Given the description of an element on the screen output the (x, y) to click on. 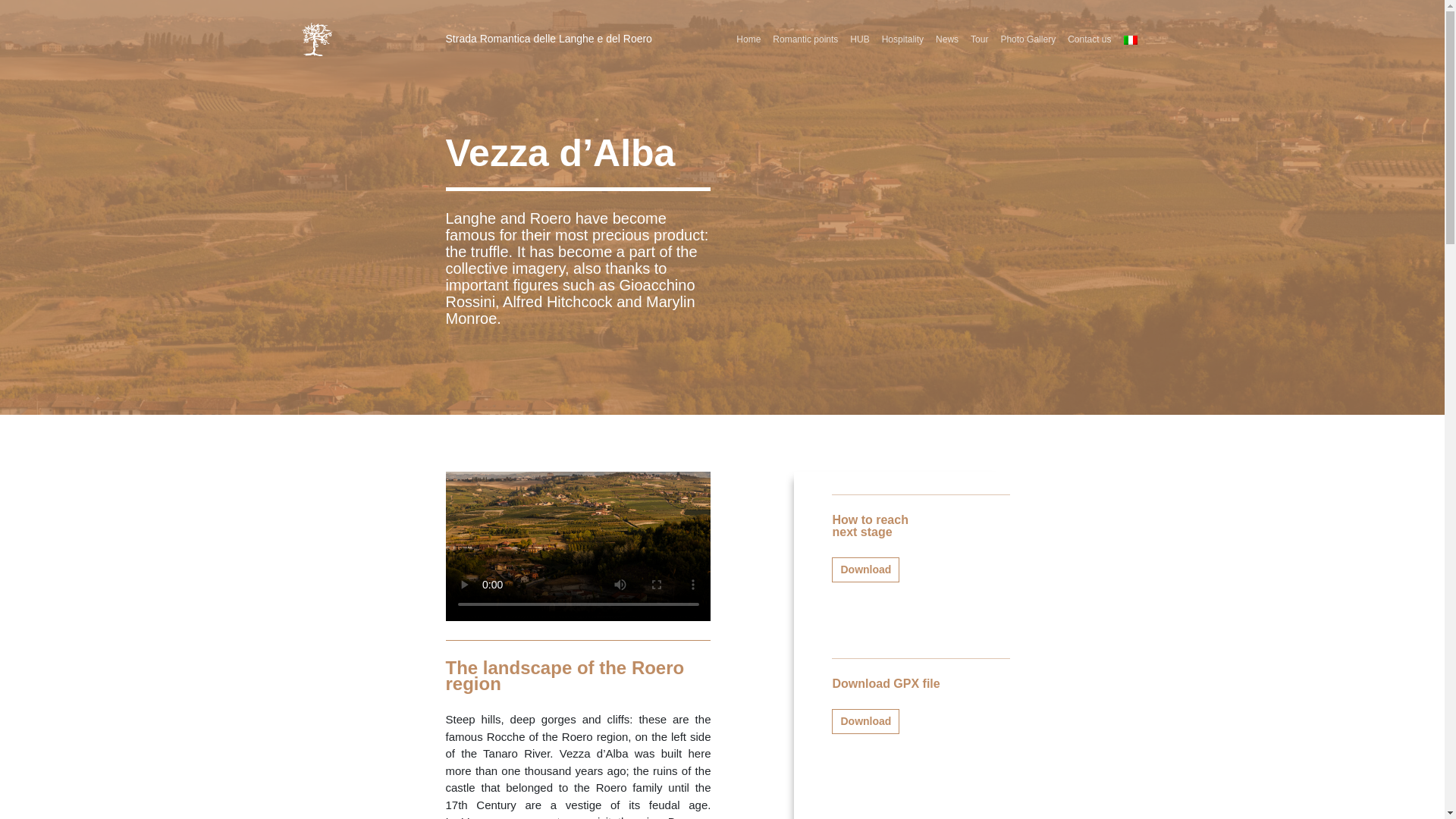
Download (865, 721)
Photo Gallery (1027, 39)
News (946, 39)
Home (748, 39)
Hospitality (903, 39)
Tour (978, 39)
Romantic points (805, 39)
Photo Gallery (1027, 39)
Contact us (1088, 39)
Romantic points (805, 39)
Hospitality (903, 39)
HUB (859, 39)
Contact us (1088, 39)
Italiano (1130, 39)
Download (865, 569)
